Given the description of an element on the screen output the (x, y) to click on. 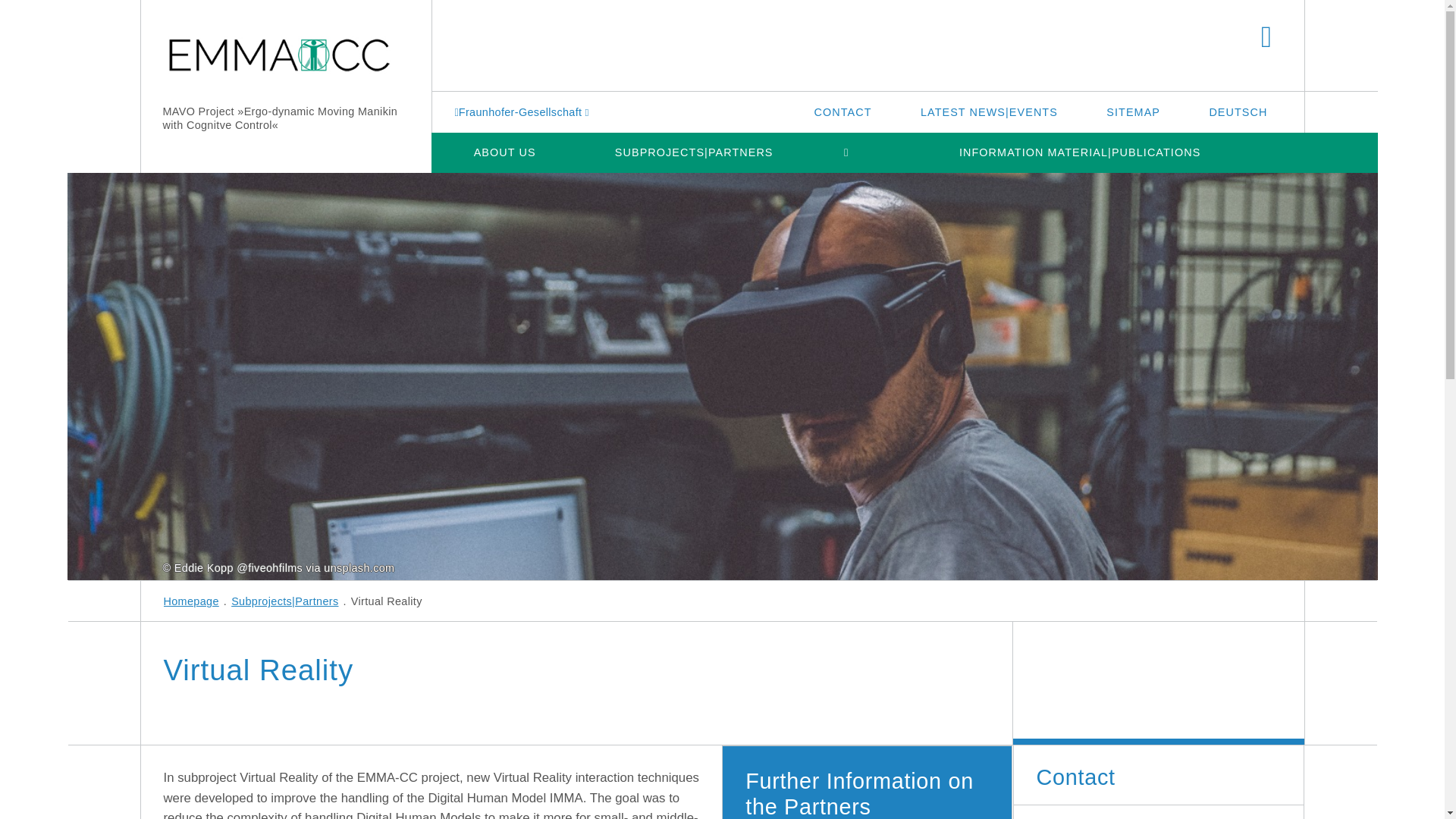
SITEMAP (1132, 111)
DEUTSCH (1238, 111)
CONTACT (843, 111)
SEARCH (1266, 37)
Virtual Reality (33, 376)
ABOUT US (504, 151)
Fraunhofer-Gesellschaft (523, 111)
